Given the description of an element on the screen output the (x, y) to click on. 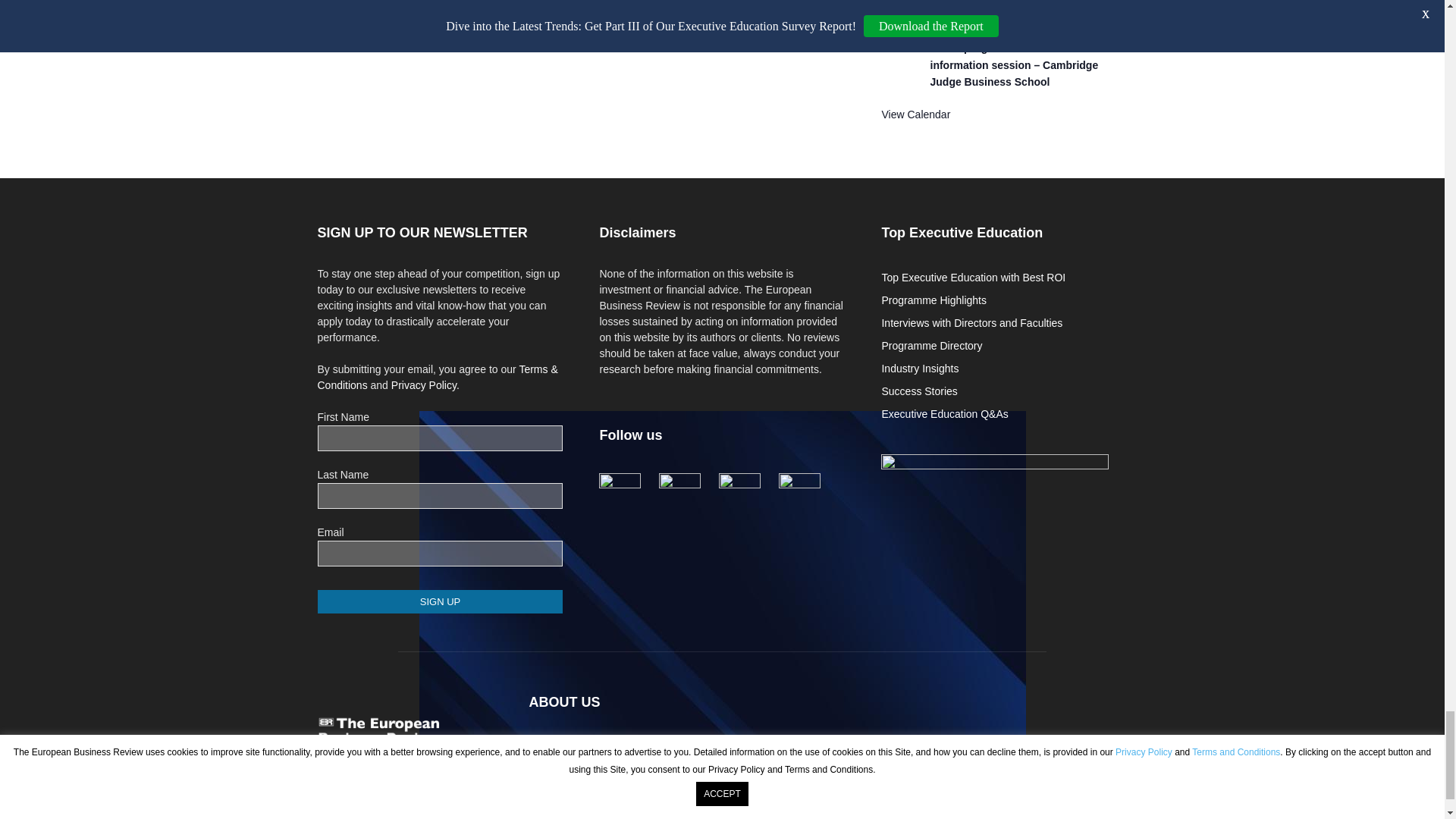
SIGN UP (439, 601)
